Given the description of an element on the screen output the (x, y) to click on. 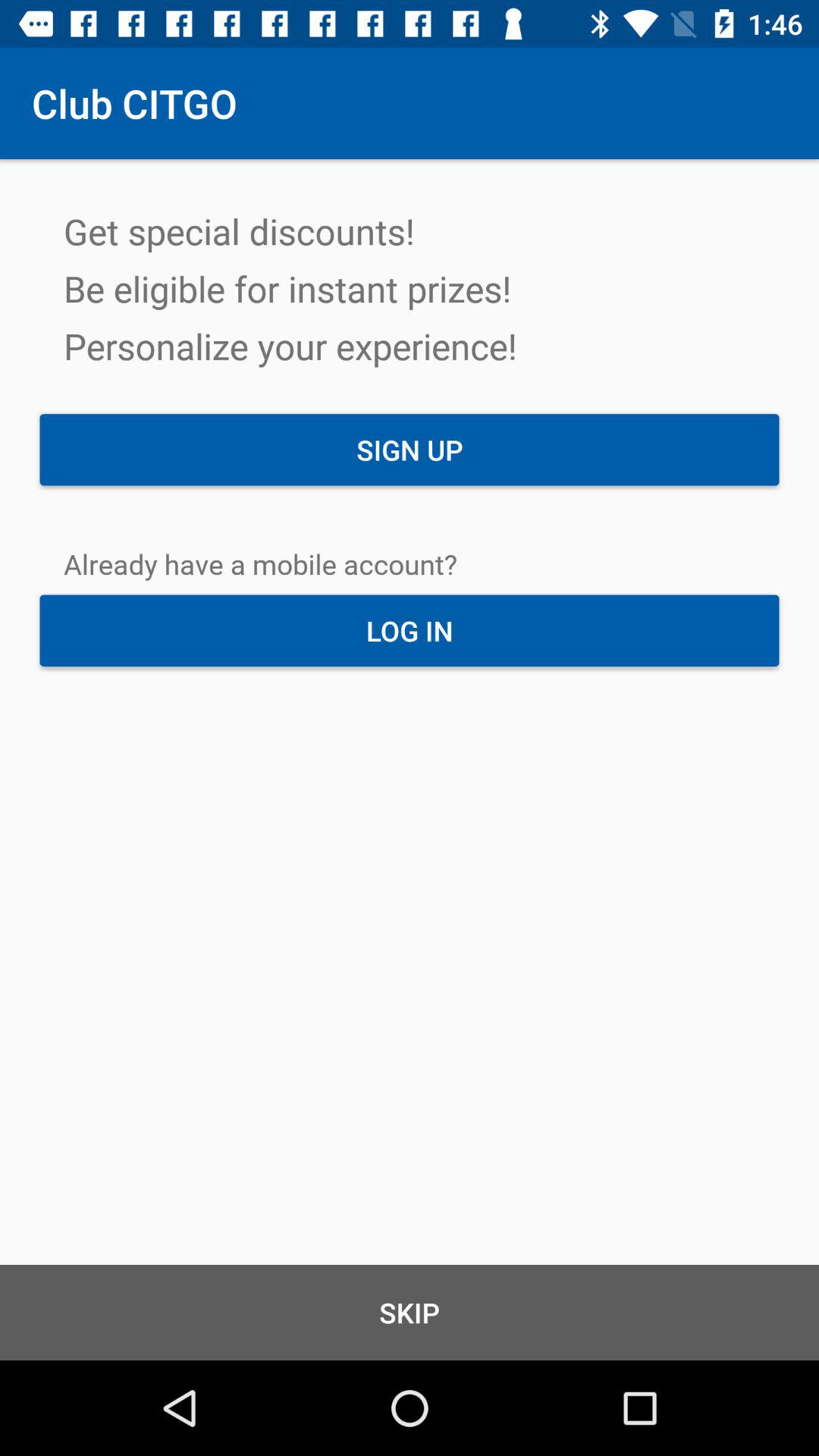
select sign up item (409, 449)
